Given the description of an element on the screen output the (x, y) to click on. 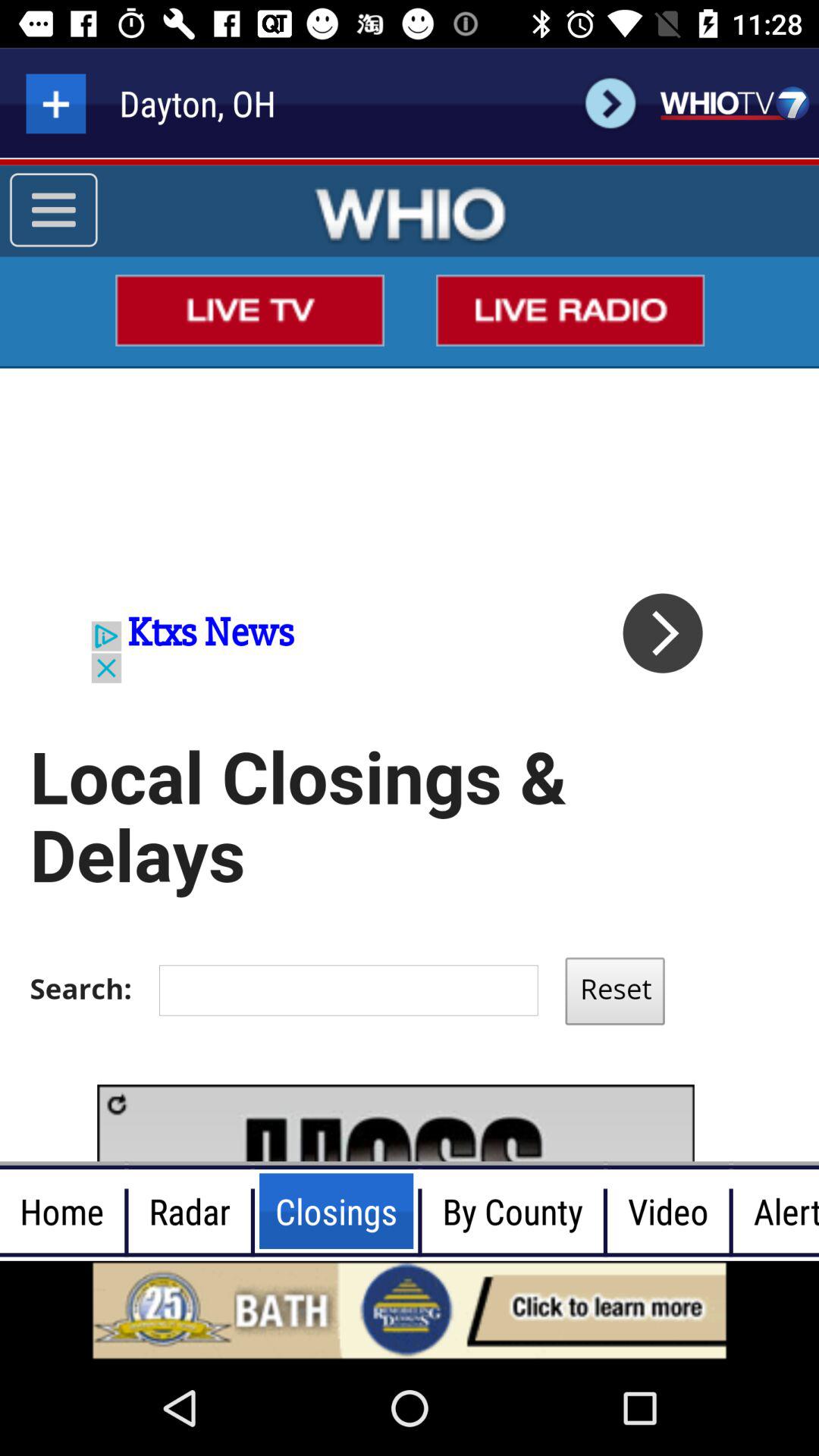
go to back (610, 103)
